Given the description of an element on the screen output the (x, y) to click on. 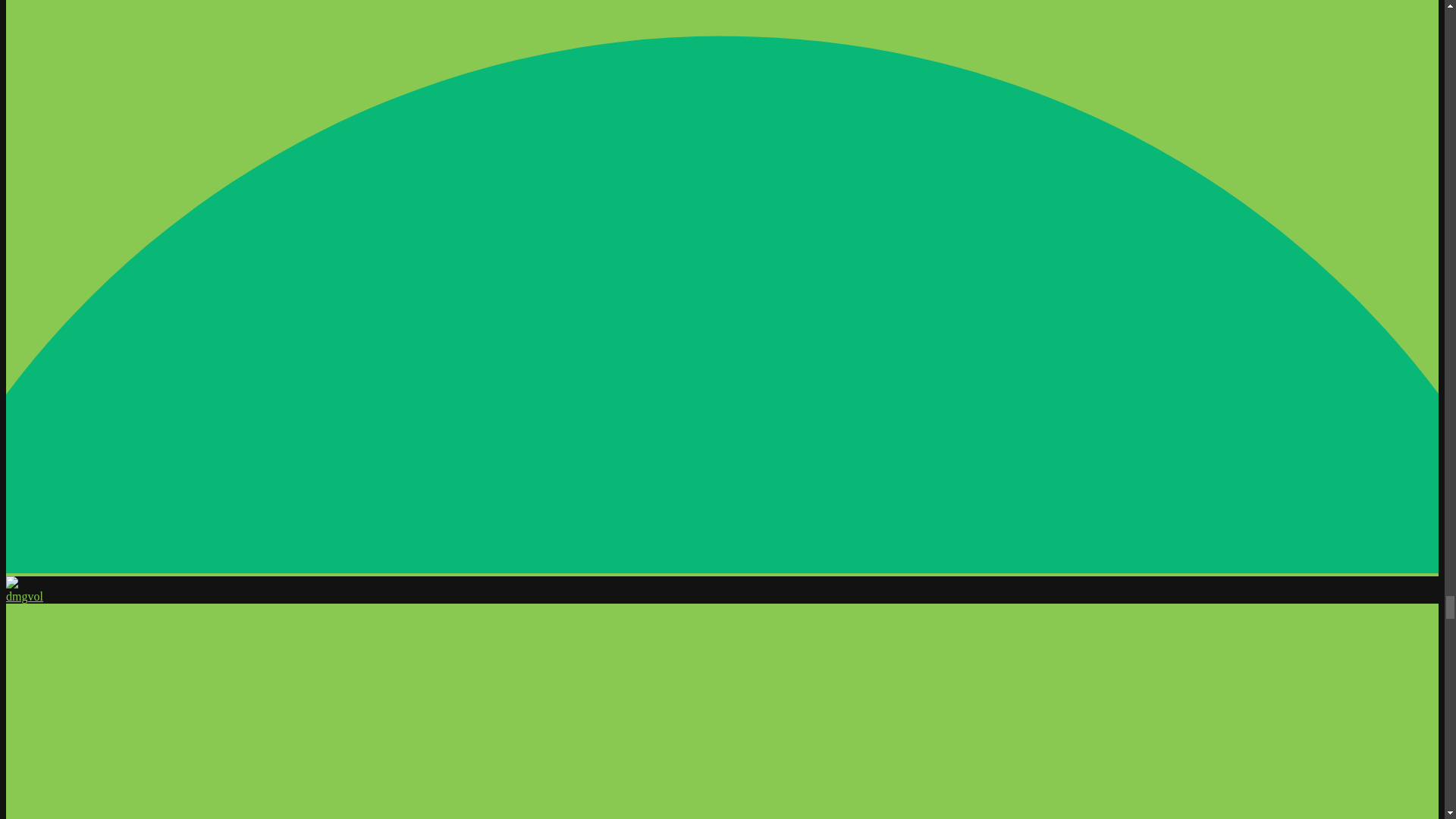
dmgvol (24, 595)
